Given the description of an element on the screen output the (x, y) to click on. 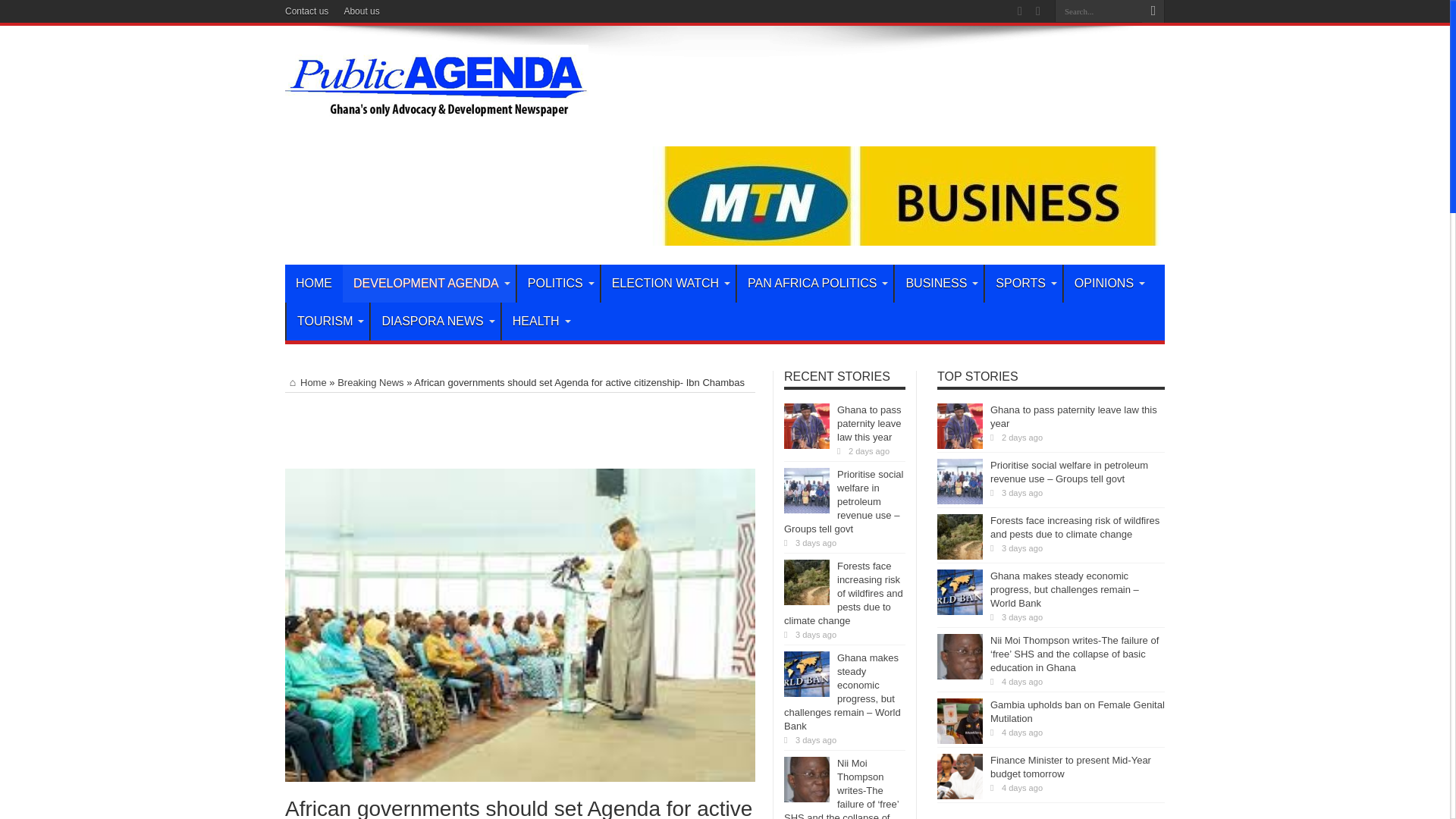
DEVELOPMENT AGENDA (428, 283)
Contact us (307, 11)
PAN AFRICA POLITICS (814, 283)
About us (360, 11)
ELECTION WATCH (667, 283)
BUSINESS (938, 283)
Search (1152, 11)
HOME (313, 283)
Search... (1097, 11)
POLITICS (557, 283)
Public Agenda NewsPaper (436, 121)
